Given the description of an element on the screen output the (x, y) to click on. 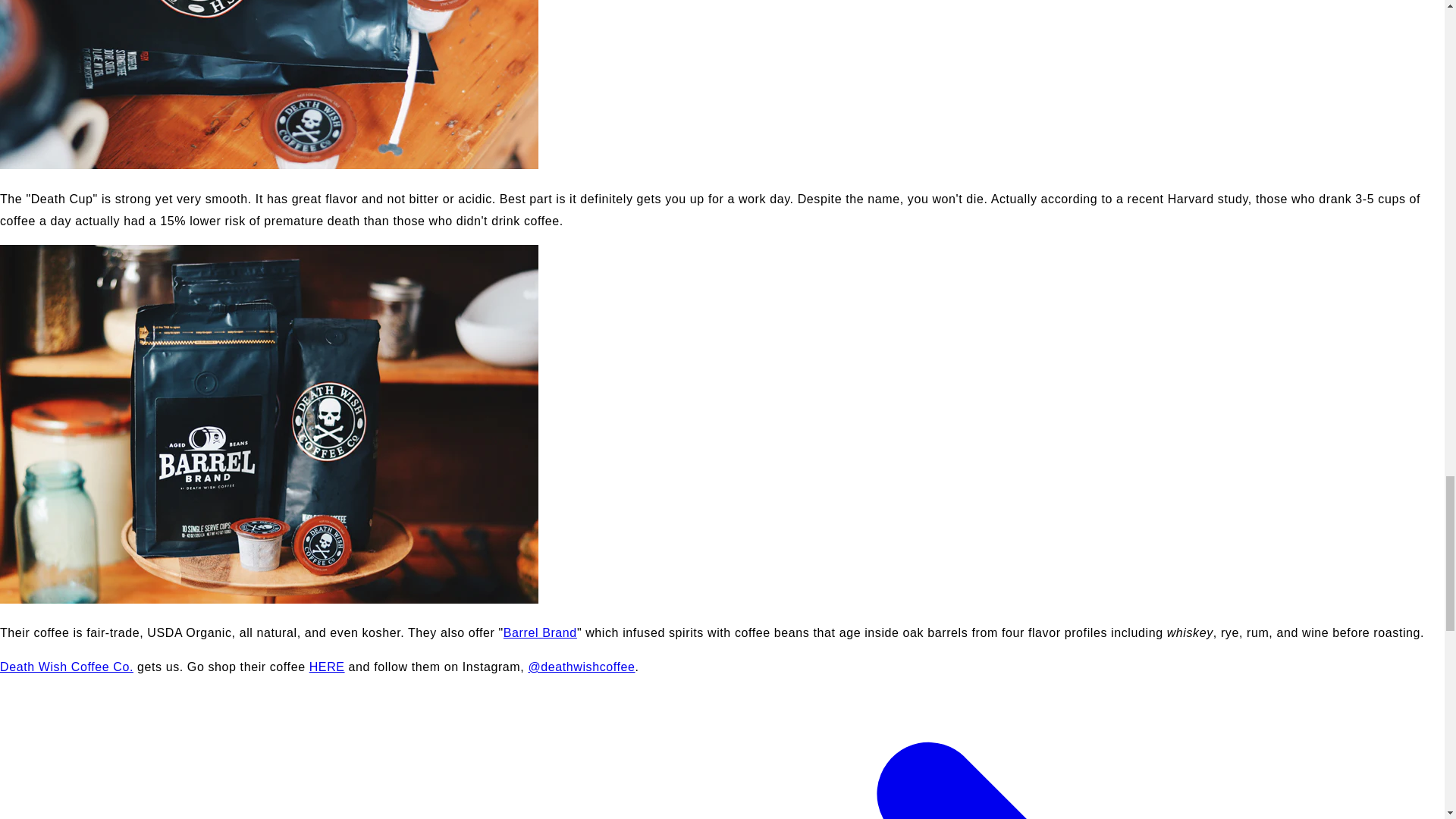
Death Wish Coffee Co Store - World's Strongest Coffee (326, 666)
Death Wish Coffee Co Barrel Brand Coffee (539, 632)
Death Wish Coffee Co. - World's Strongest Coffee (66, 666)
